Given the description of an element on the screen output the (x, y) to click on. 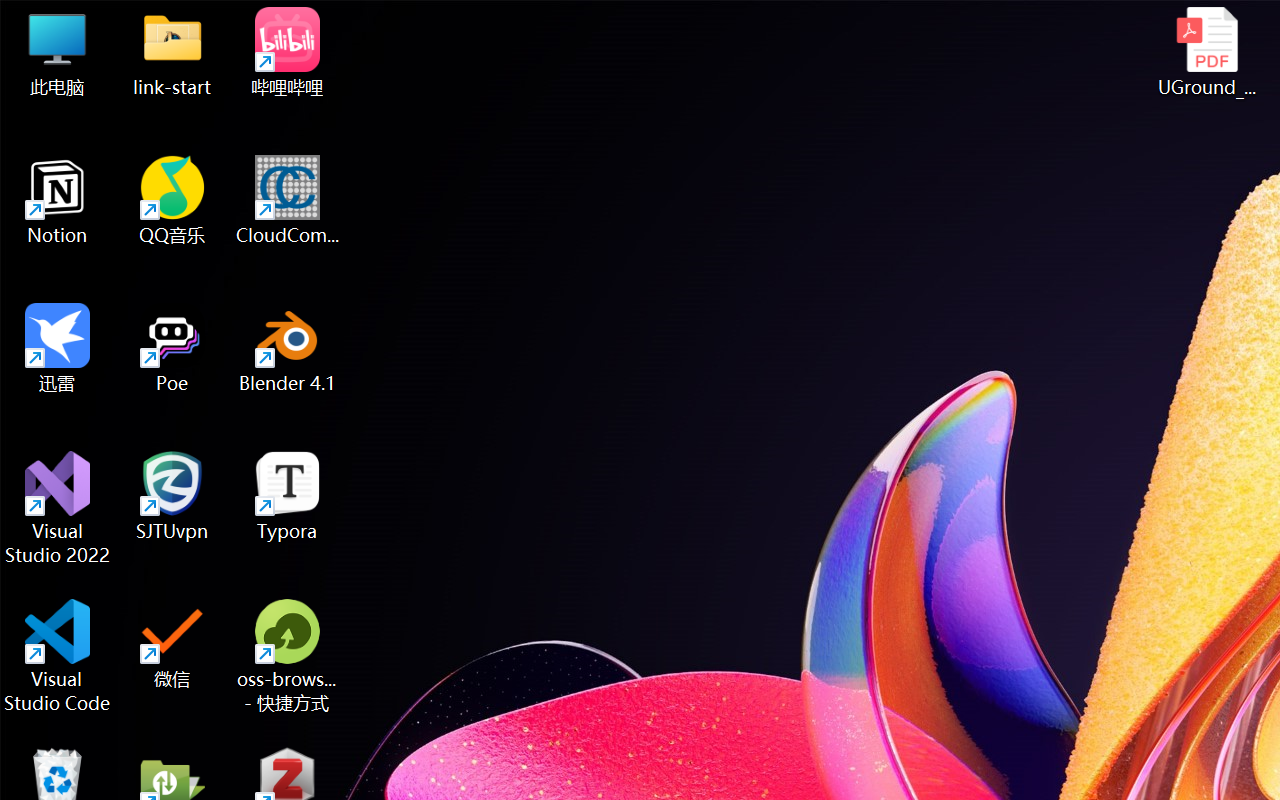
CloudCompare (287, 200)
Typora (287, 496)
Visual Studio Code (57, 656)
Blender 4.1 (287, 348)
UGround_paper.pdf (1206, 52)
SJTUvpn (172, 496)
Visual Studio 2022 (57, 508)
